Given the description of an element on the screen output the (x, y) to click on. 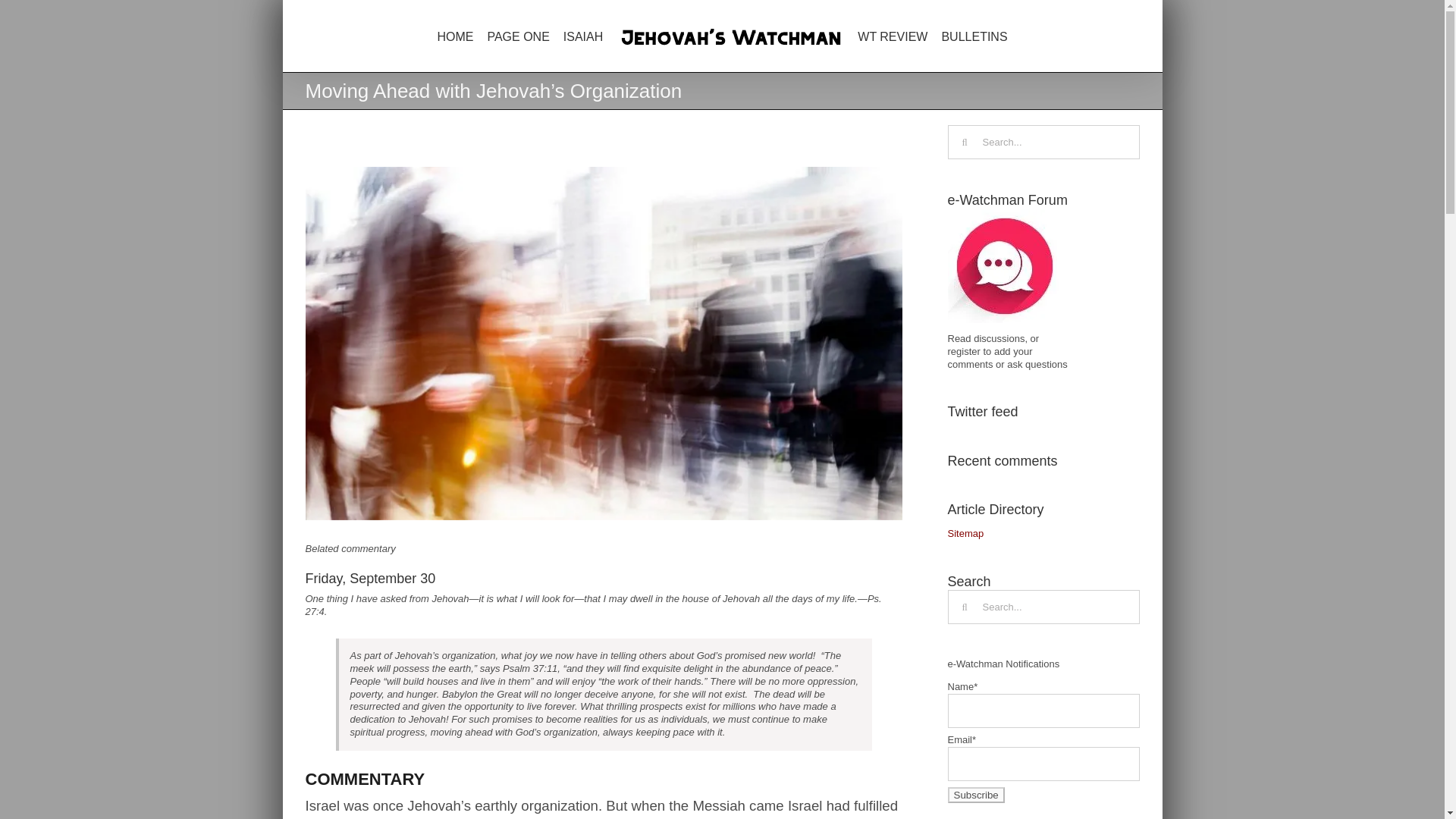
BULLETINS (973, 36)
Subscribe (975, 795)
Subscribe (975, 795)
WT REVIEW (892, 36)
e-Watchman Forum (1004, 265)
PAGE ONE (517, 36)
Sitemap (965, 532)
